Given the description of an element on the screen output the (x, y) to click on. 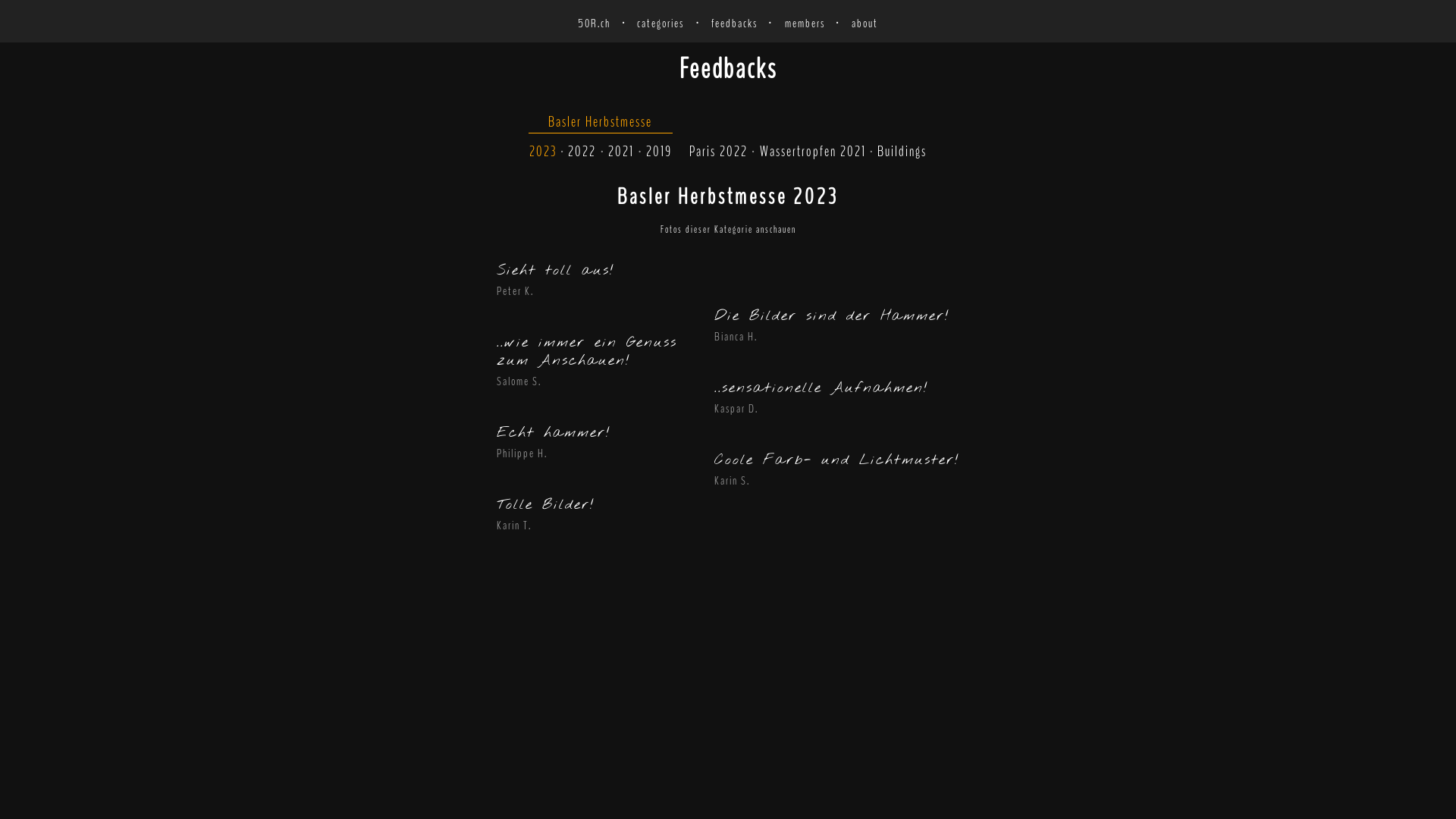
2019 Element type: text (658, 151)
about Element type: text (864, 23)
2021 Element type: text (620, 151)
Paris 2022 Element type: text (718, 151)
Fotos dieser Kategorie anschauen Element type: text (727, 229)
categories Element type: text (660, 23)
feedbacks Element type: text (734, 23)
2022 Element type: text (581, 151)
50R.ch Element type: text (593, 23)
Buildings Element type: text (901, 151)
members Element type: text (804, 23)
Wassertropfen 2021 Element type: text (812, 151)
